Given the description of an element on the screen output the (x, y) to click on. 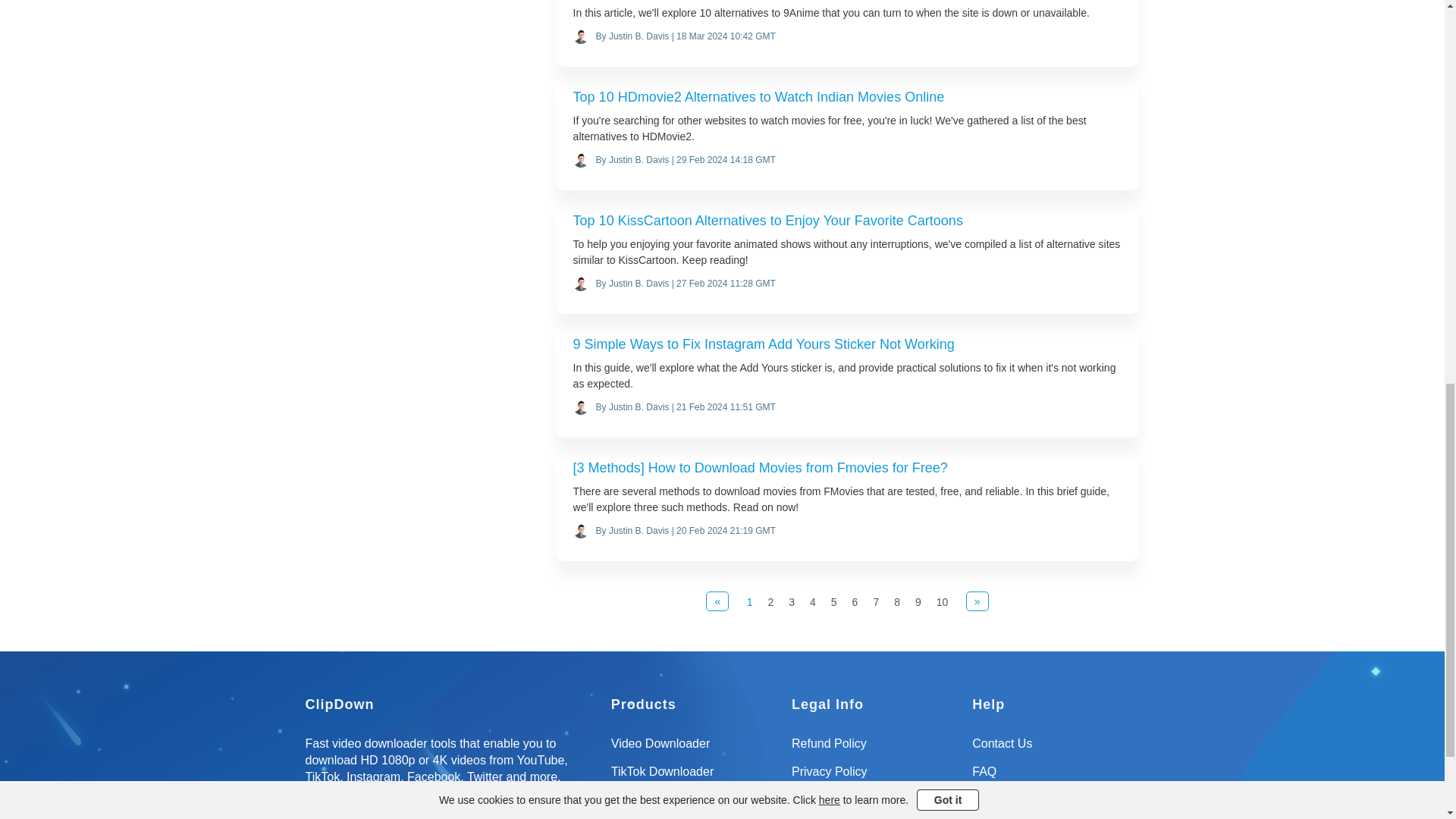
Refund Policy (875, 749)
Contact Us (1055, 749)
TikTok Downloader (694, 777)
FAQ (1055, 777)
Privacy Policy (875, 777)
Blog (1055, 805)
10 (942, 602)
Video Downloader (694, 749)
License Agreement (875, 805)
